Given the description of an element on the screen output the (x, y) to click on. 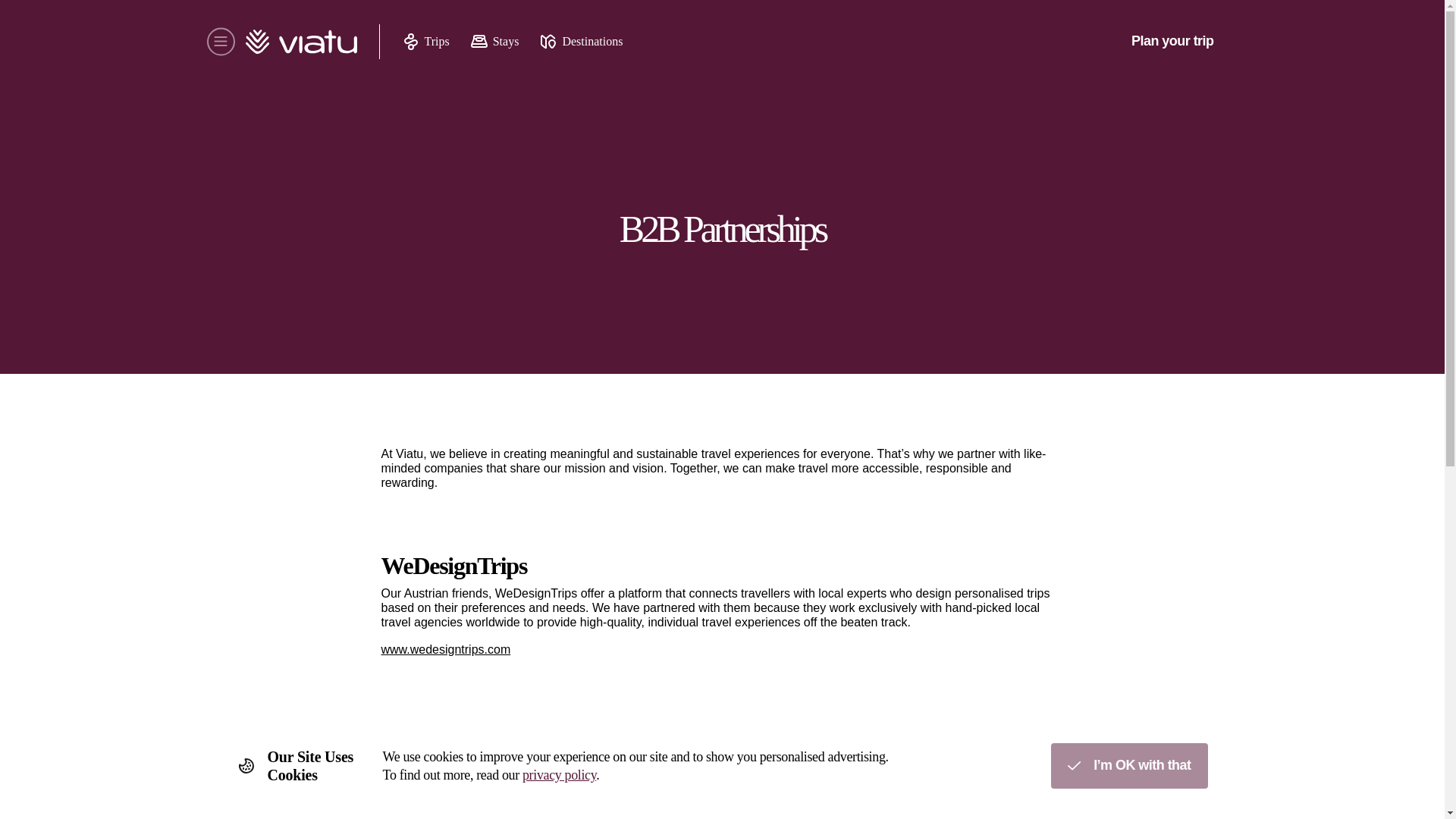
Plan your trip (1171, 40)
Menu (220, 41)
Trips (425, 41)
Homepage (295, 41)
Stays (494, 41)
Destinations (580, 41)
